Given the description of an element on the screen output the (x, y) to click on. 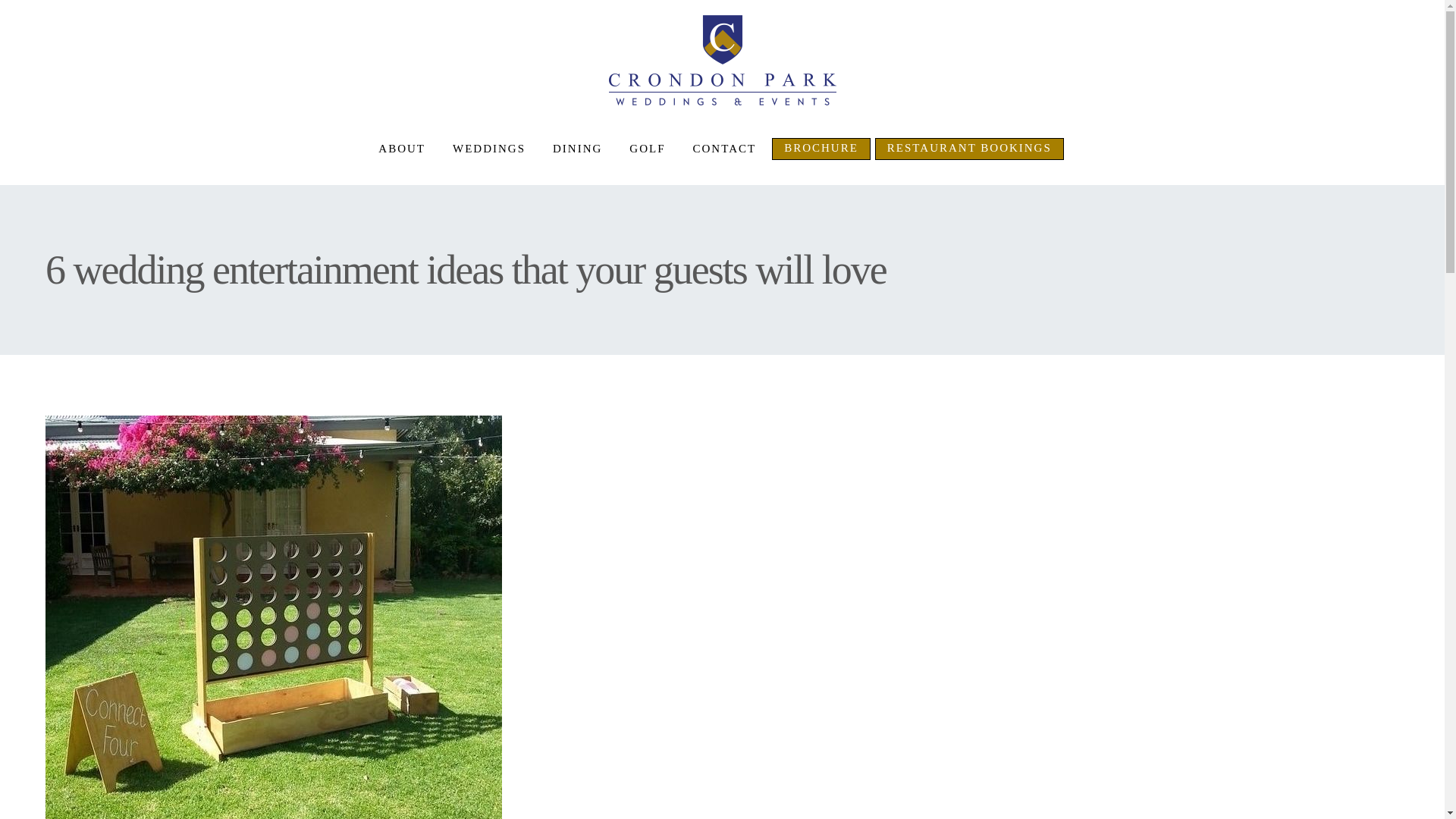
RESTAURANT BOOKINGS (969, 148)
ABOUT (401, 148)
DINING (576, 148)
BROCHURE (820, 148)
GOLF (647, 148)
WEDDINGS (489, 148)
CONTACT (724, 148)
